Given the description of an element on the screen output the (x, y) to click on. 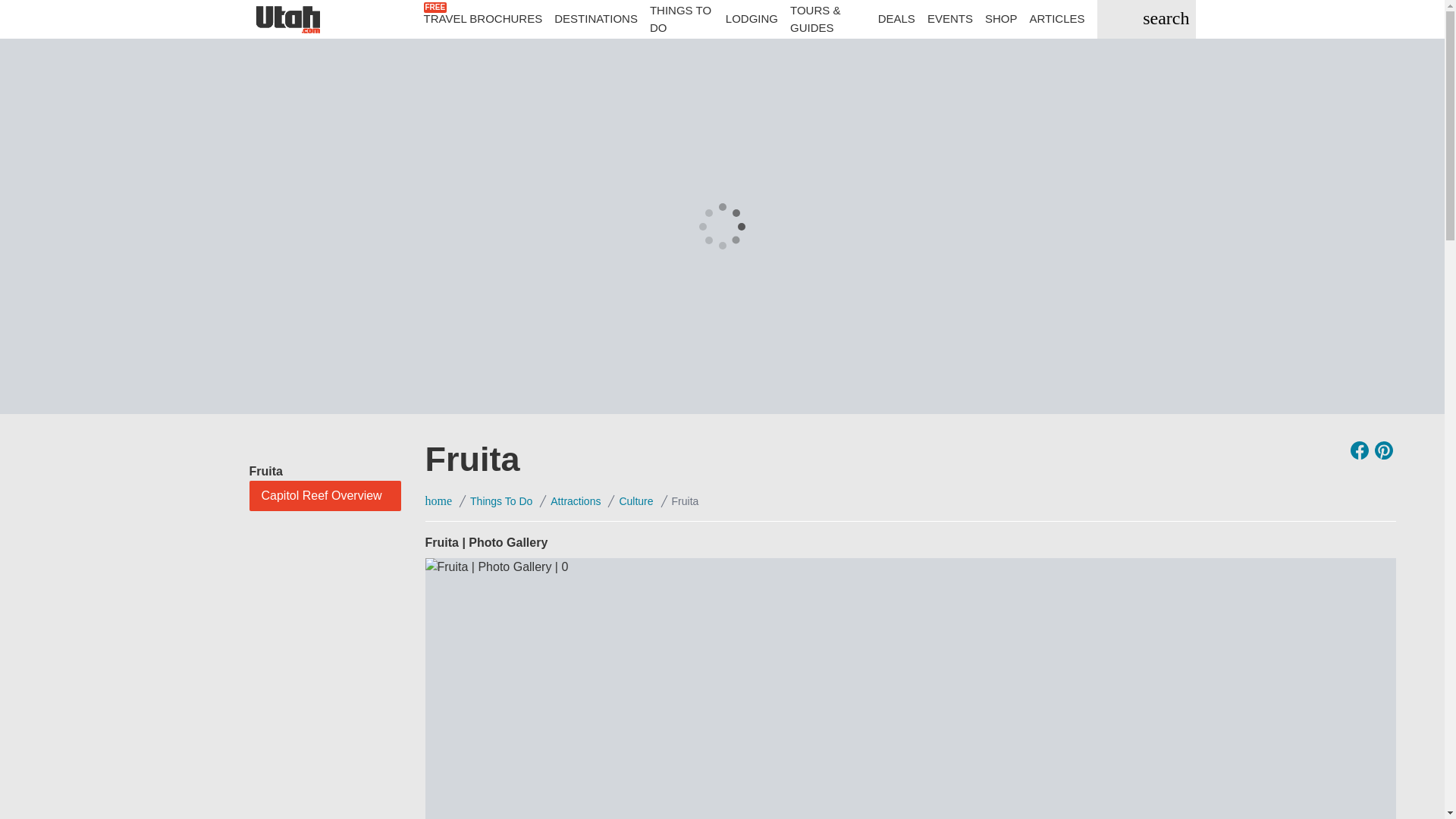
DESTINATIONS (595, 18)
TRAVEL BROCHURES (482, 18)
